Given the description of an element on the screen output the (x, y) to click on. 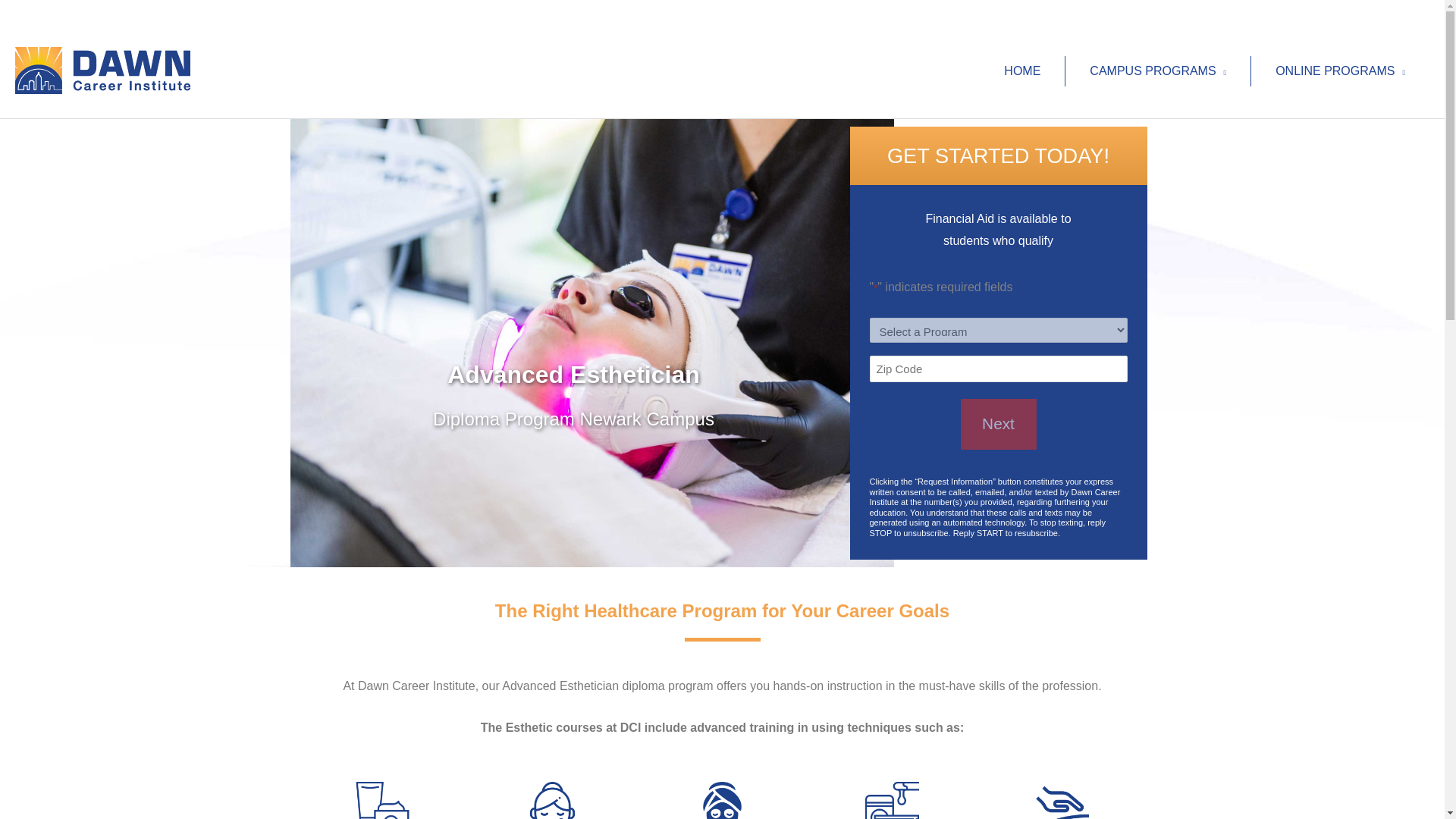
ONLINE PROGRAMS (1339, 71)
Next (997, 424)
HOME (1021, 71)
CAMPUS PROGRAMS (1158, 71)
